Given the description of an element on the screen output the (x, y) to click on. 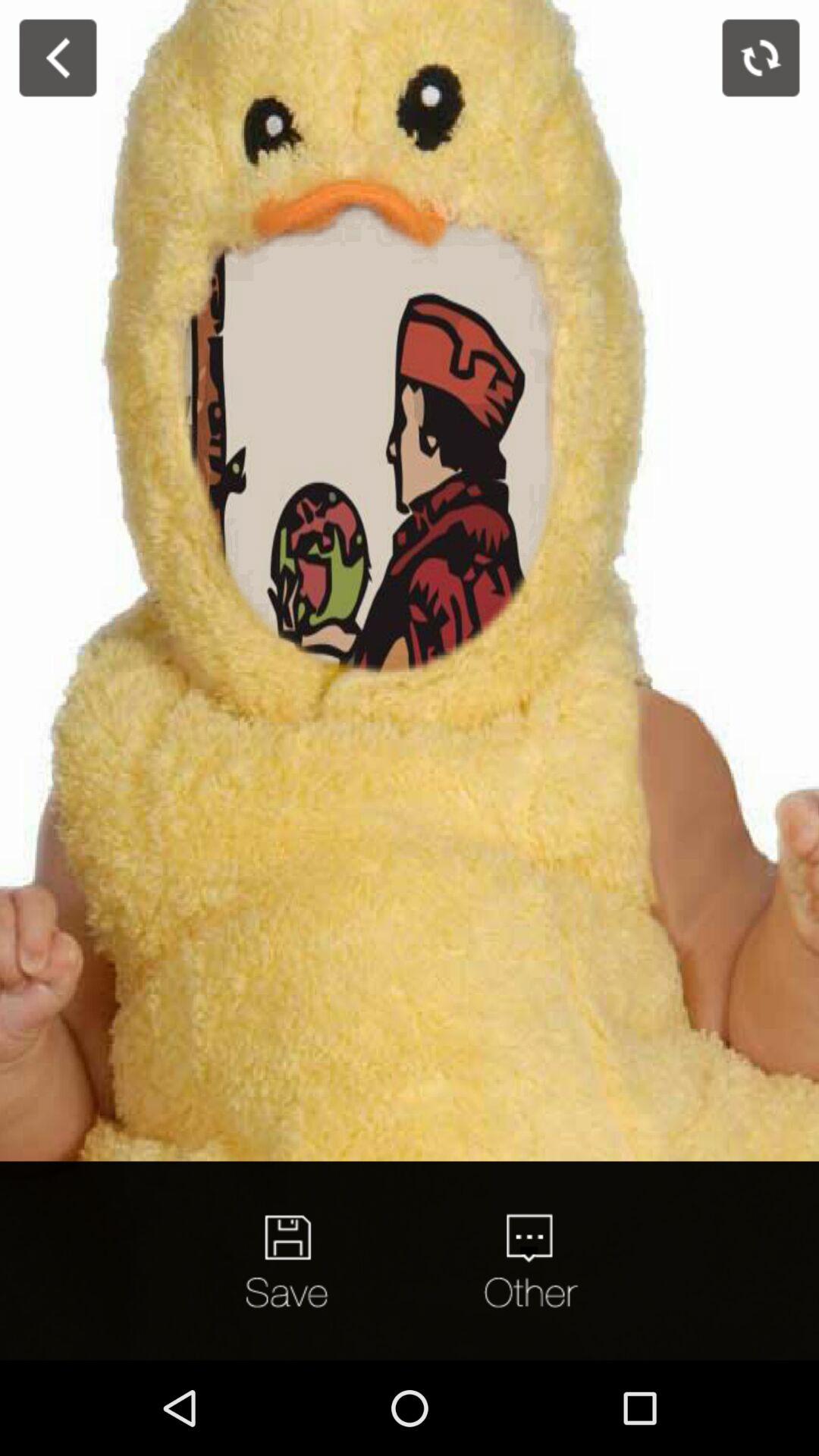
open the item at the top right corner (760, 57)
